Given the description of an element on the screen output the (x, y) to click on. 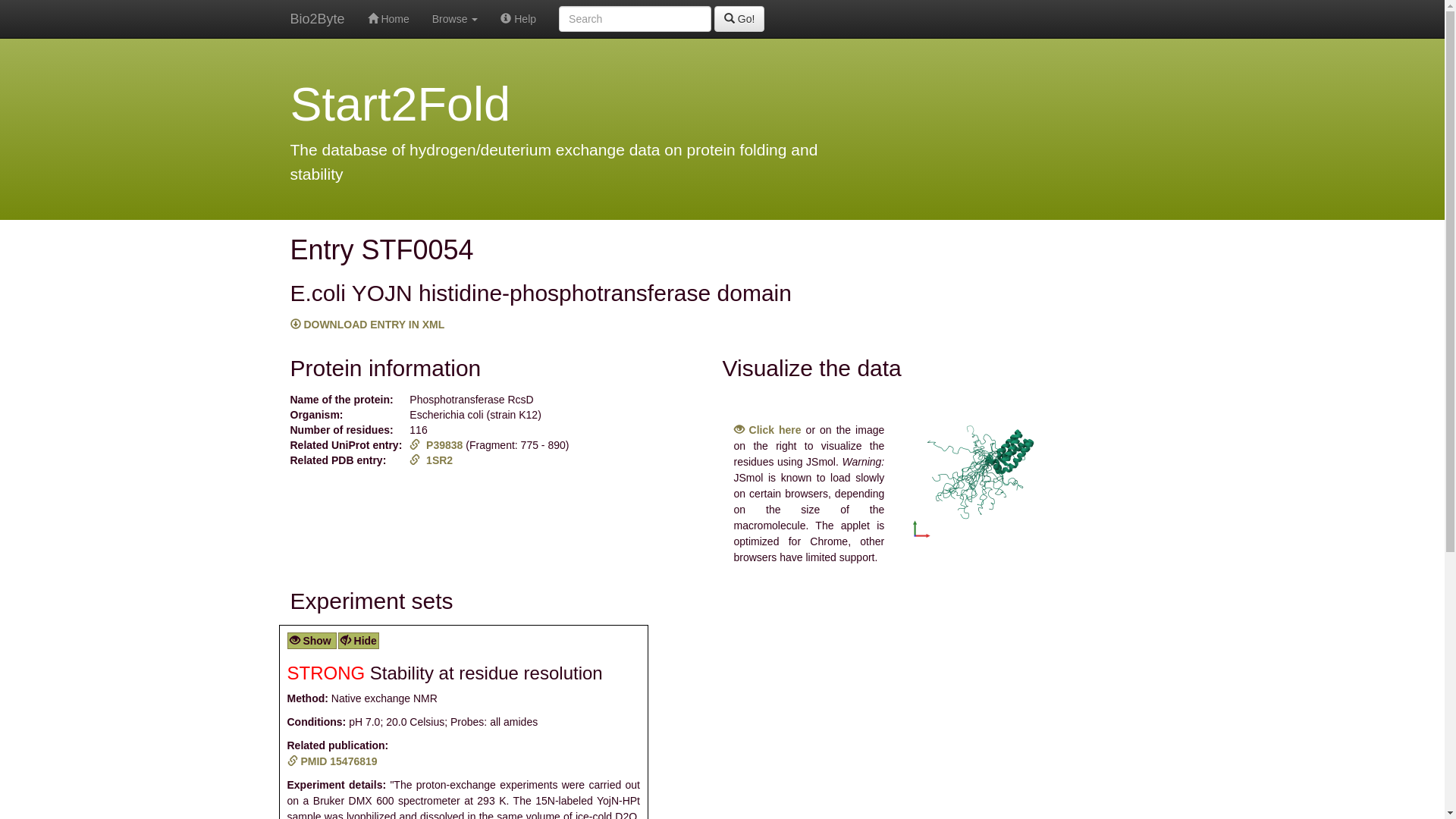
Browse Element type: text (454, 18)
 PMID 15476819 Element type: text (331, 761)
 Help Element type: text (518, 18)
Go! Element type: text (739, 18)
 DOWNLOAD ENTRY IN XML Element type: text (366, 324)
Bio2Byte Element type: text (317, 18)
  1SR2 Element type: text (430, 460)
  P39838 Element type: text (437, 445)
 Home Element type: text (388, 18)
 Click here Element type: text (767, 429)
